Given the description of an element on the screen output the (x, y) to click on. 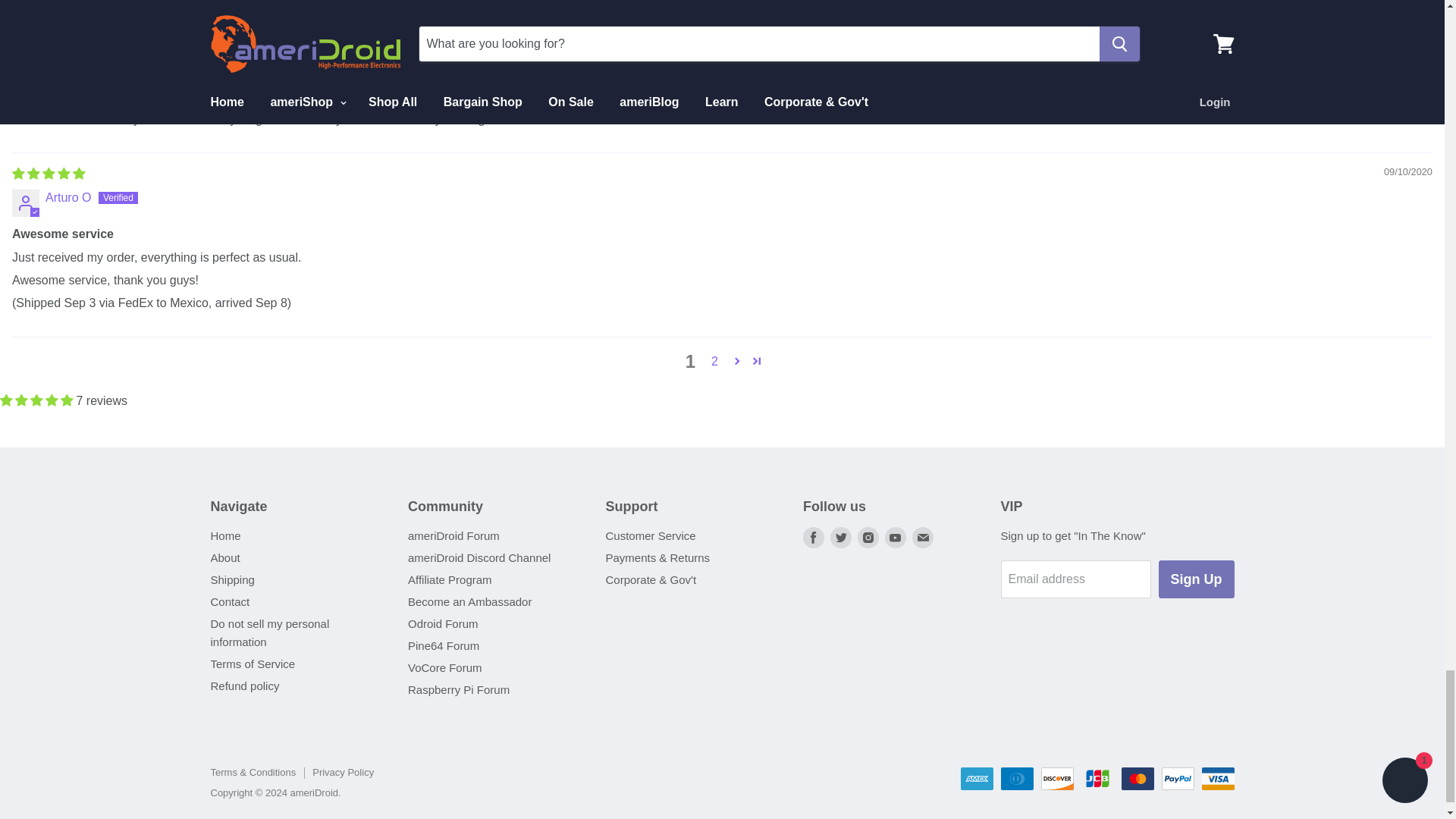
E-mail (922, 537)
jcb (1097, 778)
Facebook (813, 537)
Instagram (868, 537)
Youtube (895, 537)
Twitter (840, 537)
